Given the description of an element on the screen output the (x, y) to click on. 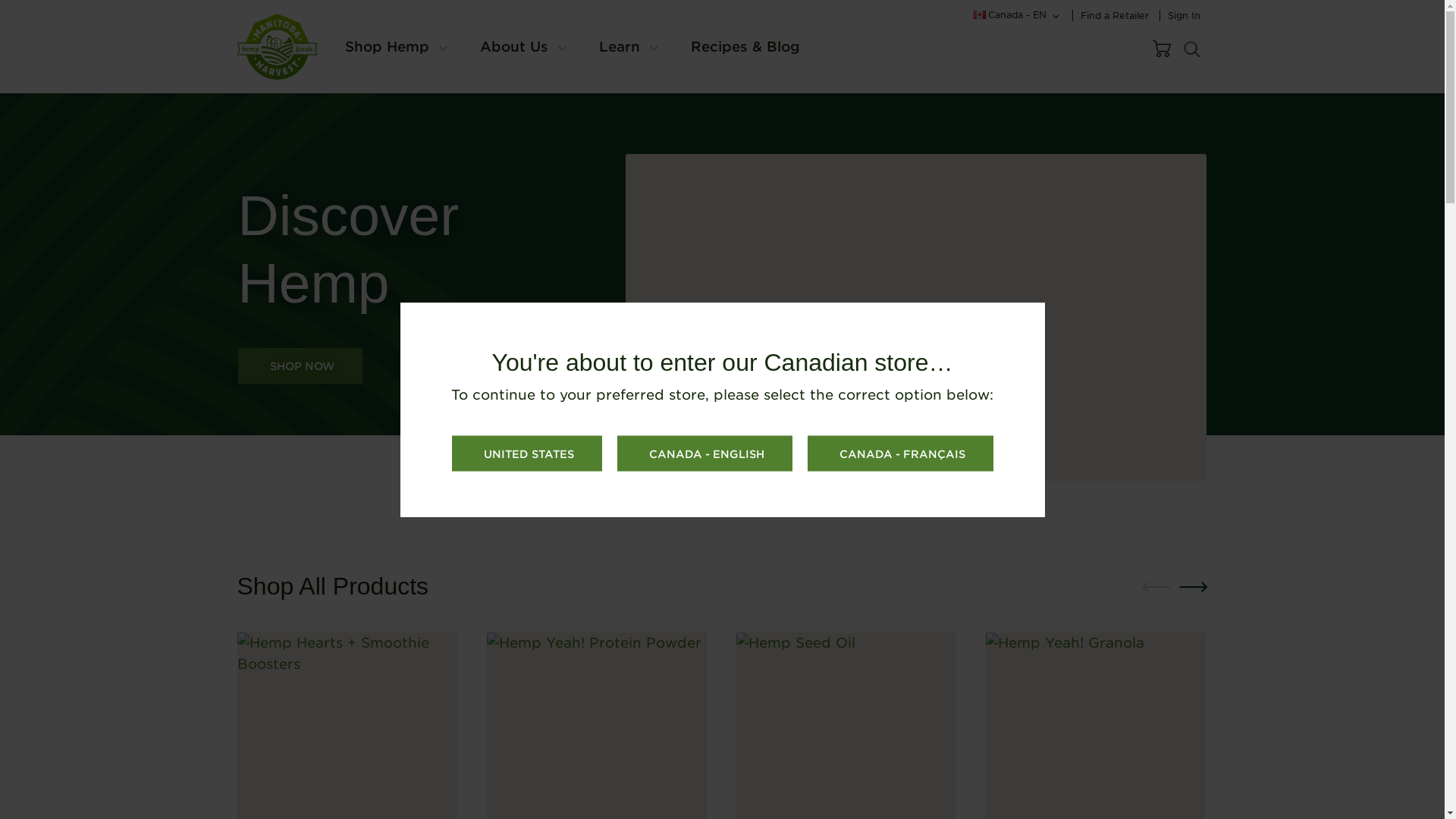
Canada - EN (1017, 15)
About Us (513, 46)
CAROUSEL ARROW LEFT (1155, 586)
LEARN TRANSLATION MISSING: EN.ACCESSIBILITY.SUBMENU (654, 48)
Manitoba Harvest Hemp Foods (276, 46)
Shop Hemp (385, 46)
Learn (619, 46)
ABOUT US TRANSLATION MISSING: EN.ACCESSIBILITY.SUBMENU (560, 48)
CAROUSEL ARROW RIGHT (1192, 586)
SHOP HEMP TRANSLATION MISSING: EN.ACCESSIBILITY.SUBMENU (442, 48)
